Given the description of an element on the screen output the (x, y) to click on. 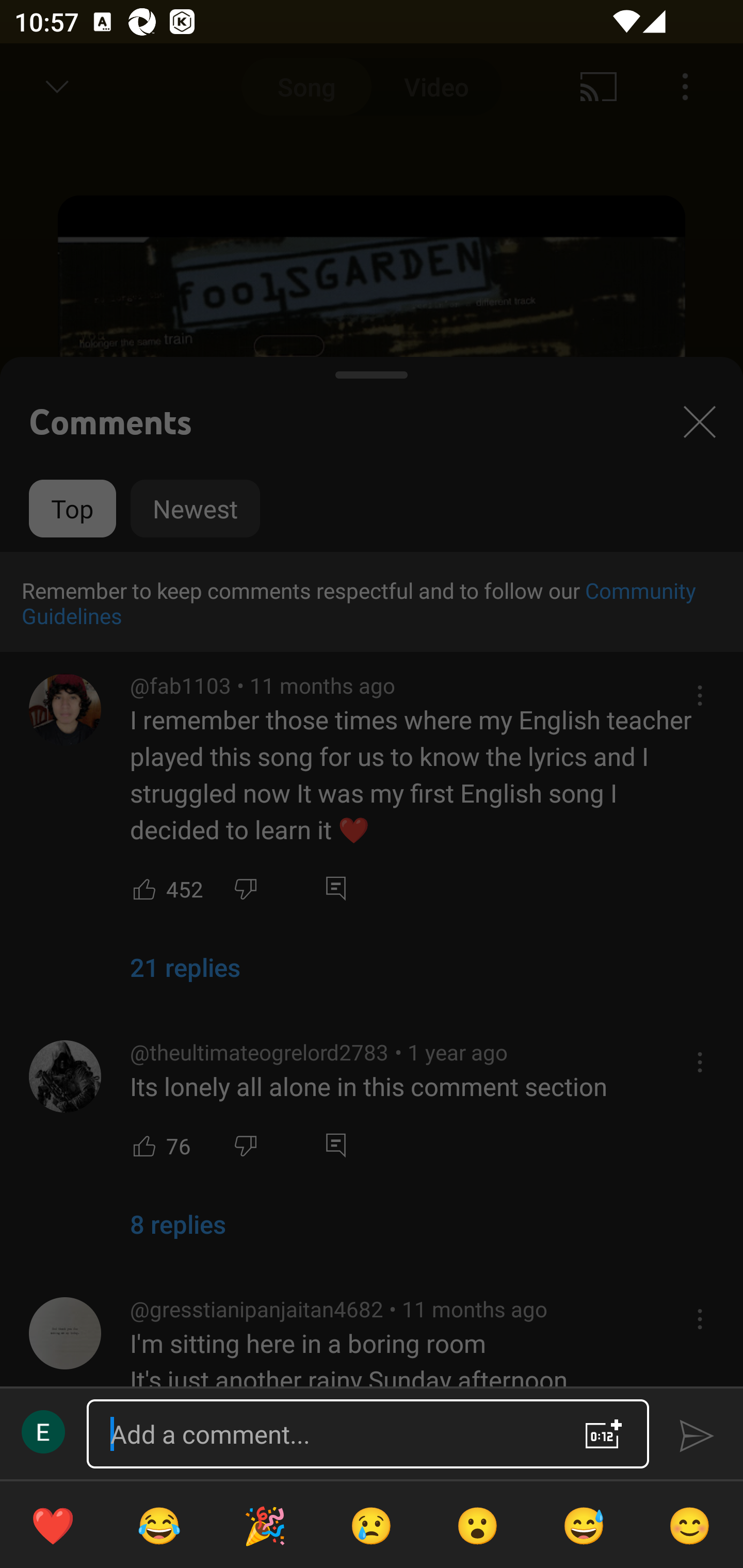
Add a comment... (329, 1433)
Add a timestamp (603, 1433)
❤ (53, 1524)
😂 (158, 1524)
🎉 (264, 1524)
😢 (371, 1524)
😮 (477, 1524)
😅 (583, 1524)
😊 (689, 1524)
